Given the description of an element on the screen output the (x, y) to click on. 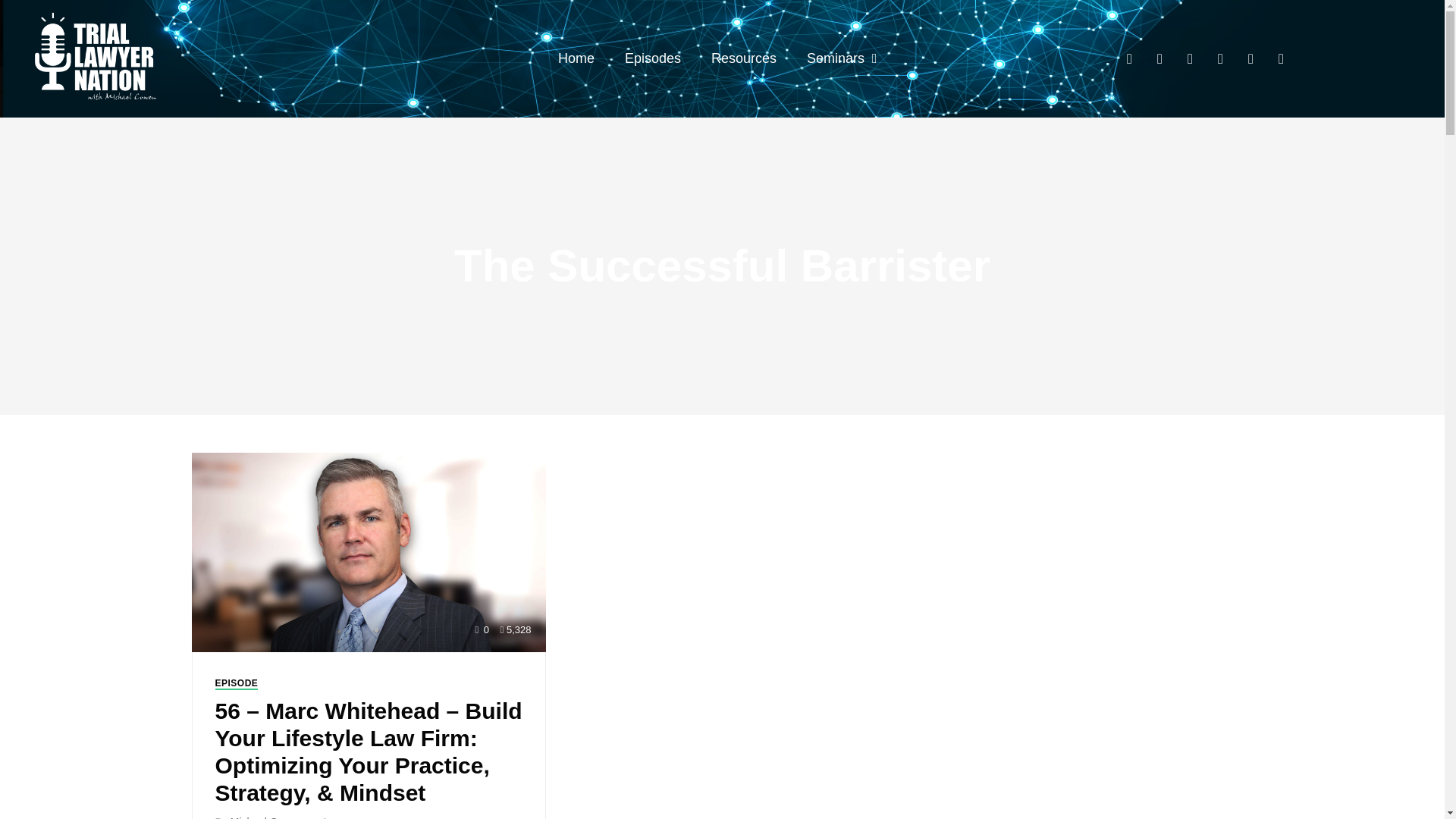
Michael Cowen (266, 817)
0 5,328 (368, 551)
Seminars (842, 58)
EPISODE (237, 684)
Episodes (652, 58)
Resources (743, 58)
Home (576, 58)
